Given the description of an element on the screen output the (x, y) to click on. 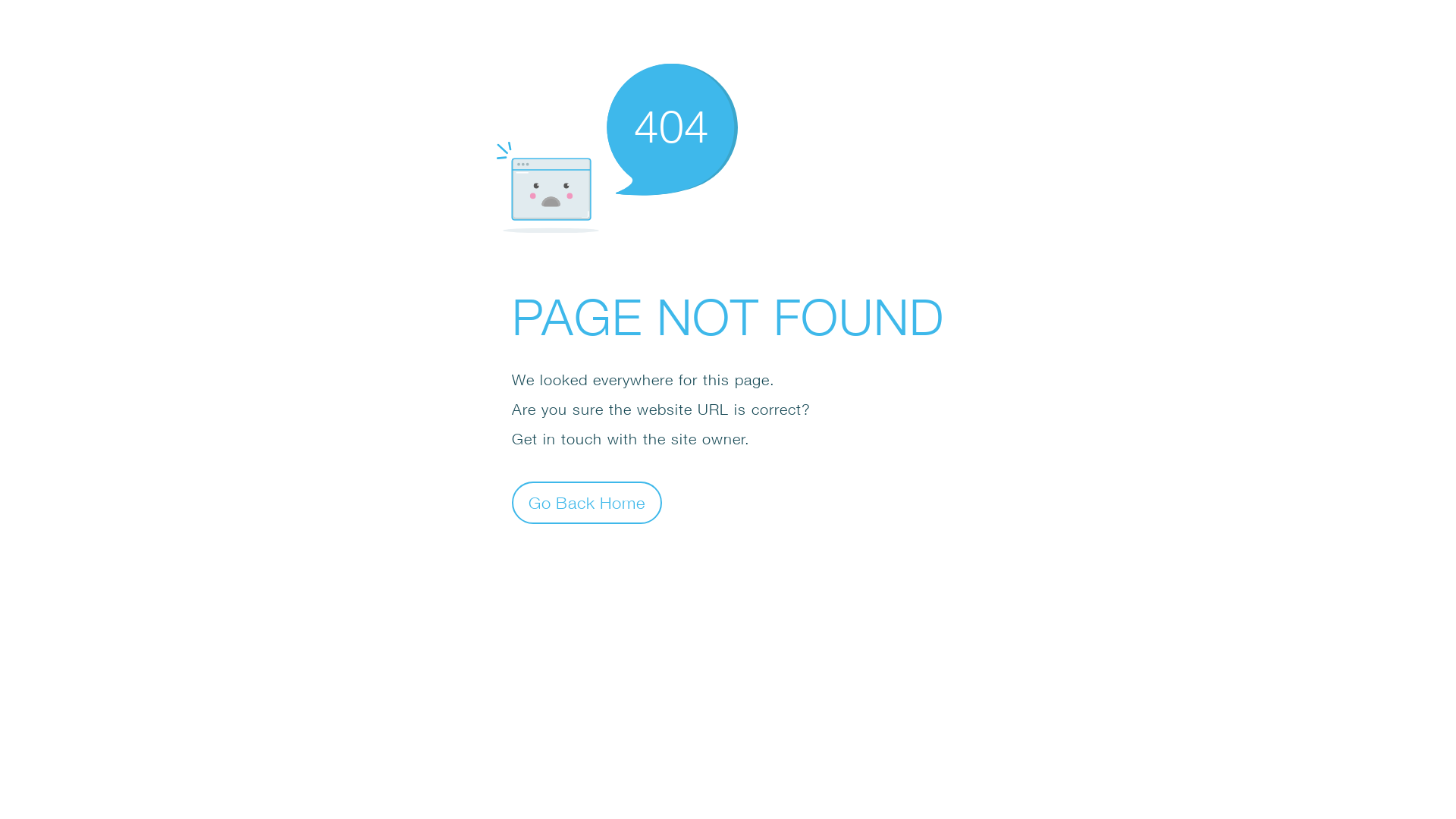
Go Back Home Element type: text (586, 502)
